Given the description of an element on the screen output the (x, y) to click on. 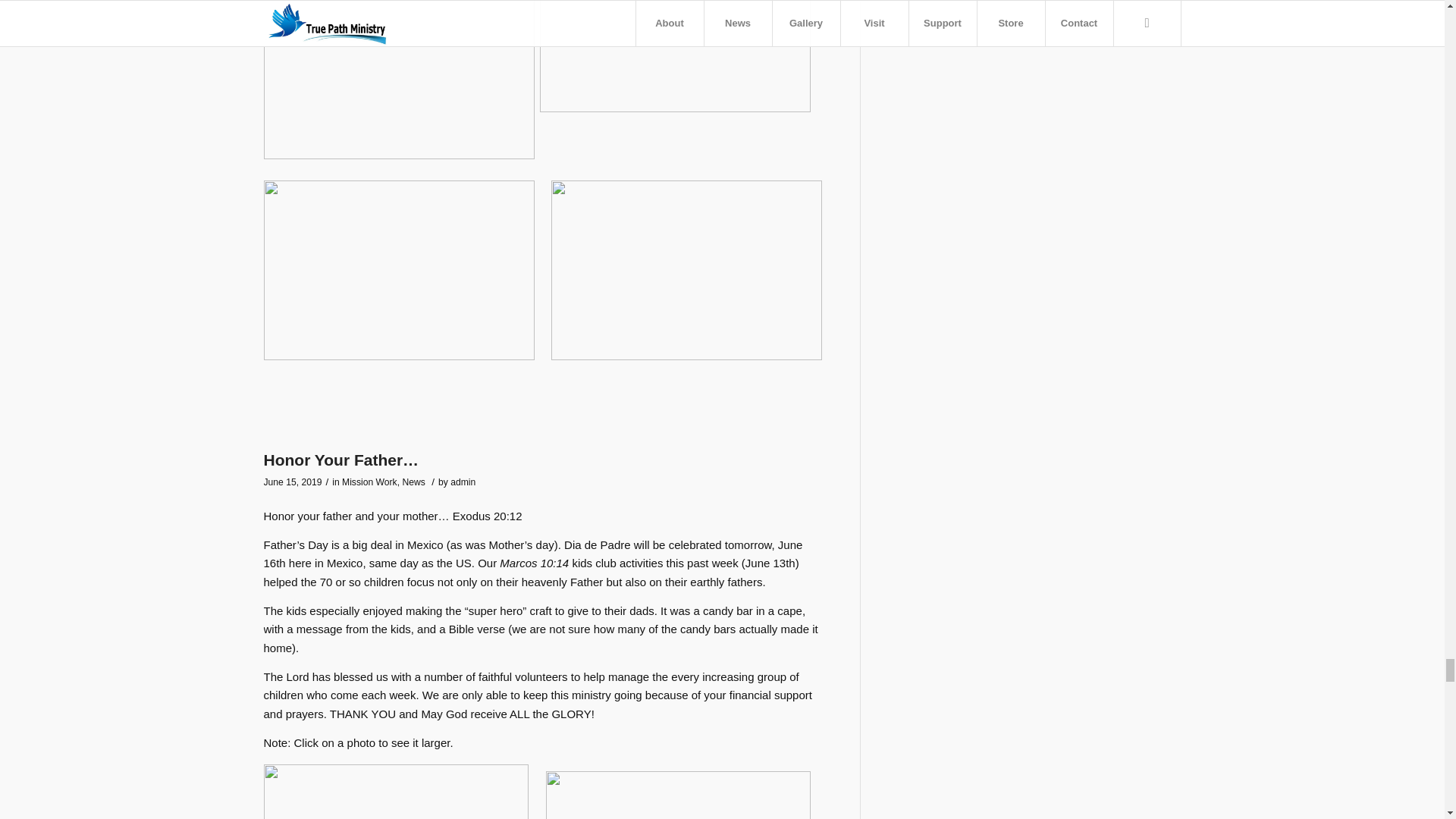
Posts by admin (462, 481)
admin (462, 481)
Mission Work (369, 481)
News (413, 481)
